Given the description of an element on the screen output the (x, y) to click on. 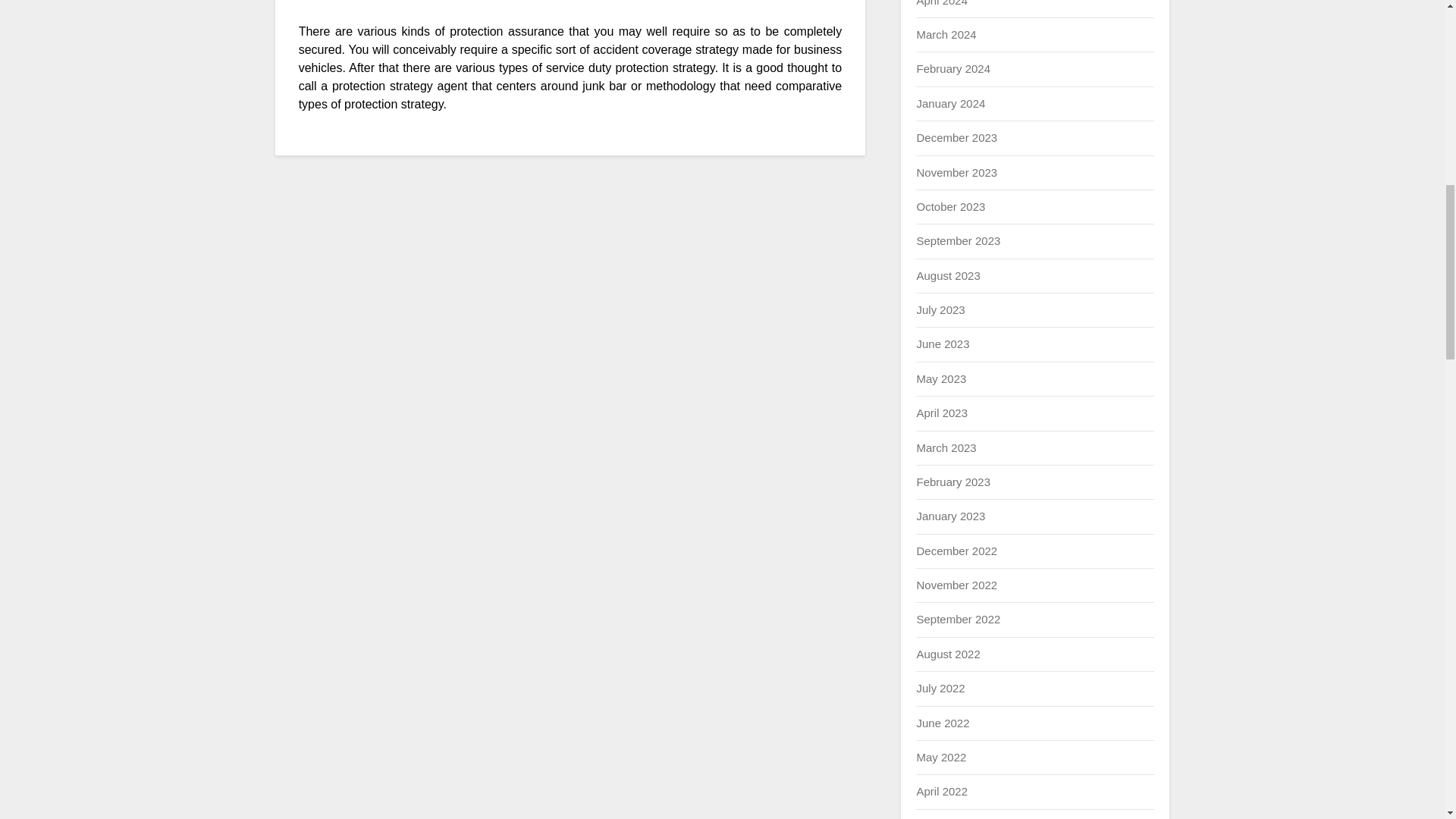
March 2024 (945, 33)
October 2023 (950, 205)
September 2023 (957, 240)
December 2023 (956, 137)
June 2023 (942, 343)
July 2023 (939, 309)
January 2024 (950, 103)
September 2022 (957, 618)
January 2023 (950, 515)
August 2023 (947, 275)
November 2023 (956, 172)
April 2023 (941, 412)
March 2023 (945, 447)
December 2022 (956, 550)
February 2023 (952, 481)
